Given the description of an element on the screen output the (x, y) to click on. 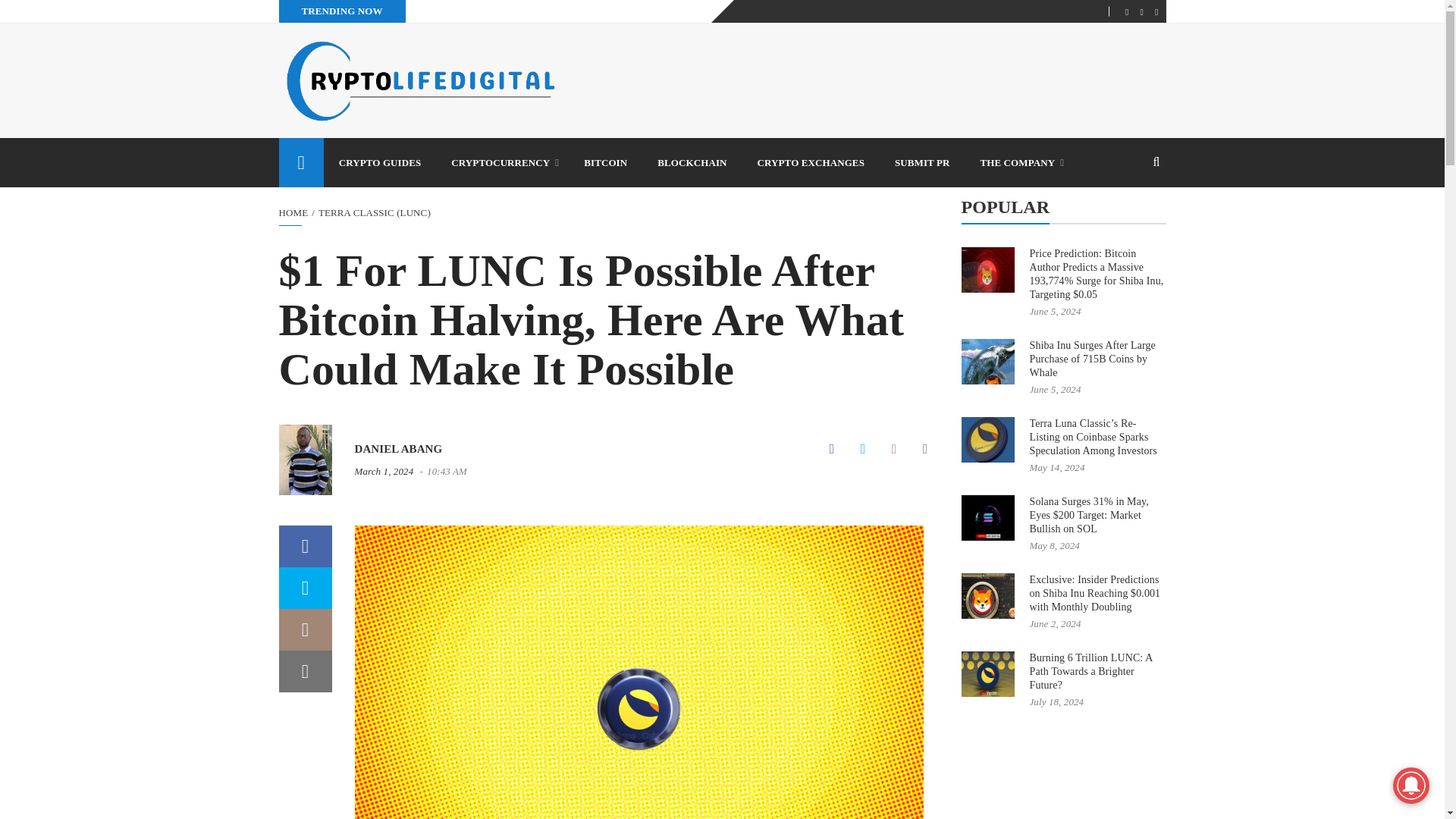
Comment (893, 448)
Twitter (862, 448)
Home (301, 162)
Home (293, 212)
Facebook (831, 448)
